Given the description of an element on the screen output the (x, y) to click on. 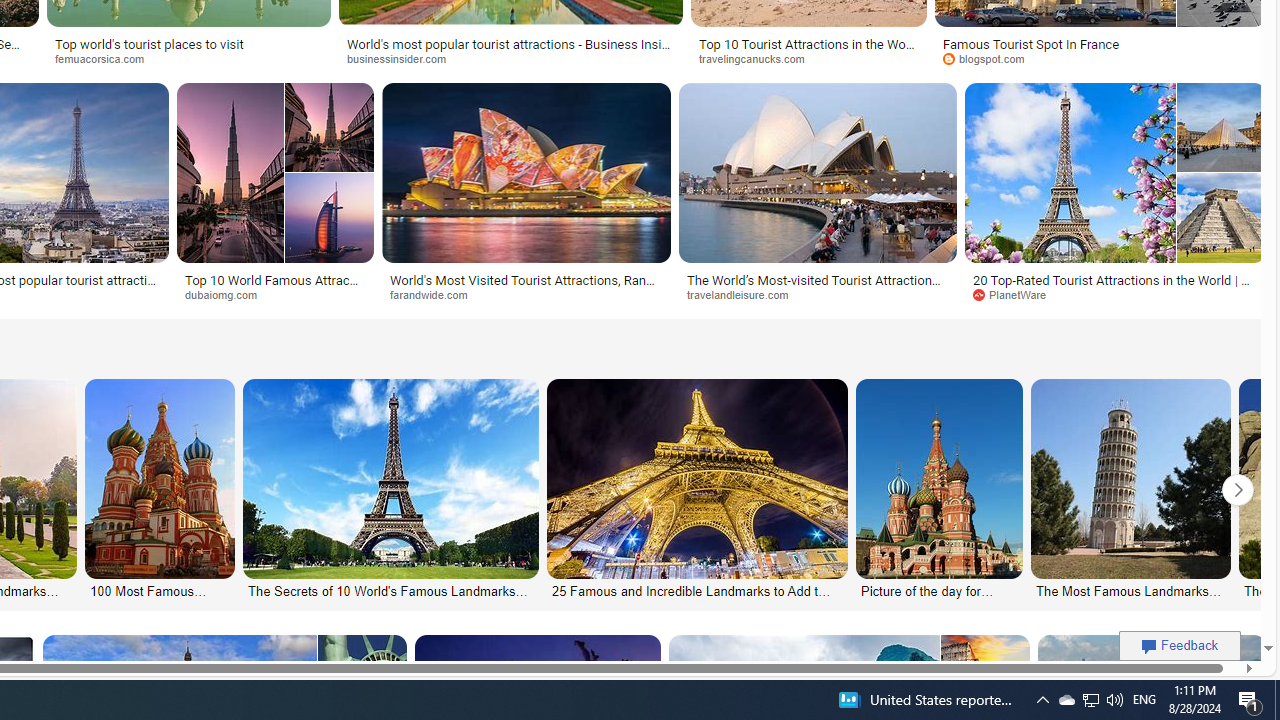
travelandleisure.com (744, 294)
Famous Tourist Spot In France (1100, 44)
travelingcanucks.com (758, 57)
PlanetWare (1016, 294)
20 Top-Rated Tourist Attractions in the World | PlanetWare (1115, 286)
PlanetWare (1115, 295)
dubaiomg.com (275, 295)
